Given the description of an element on the screen output the (x, y) to click on. 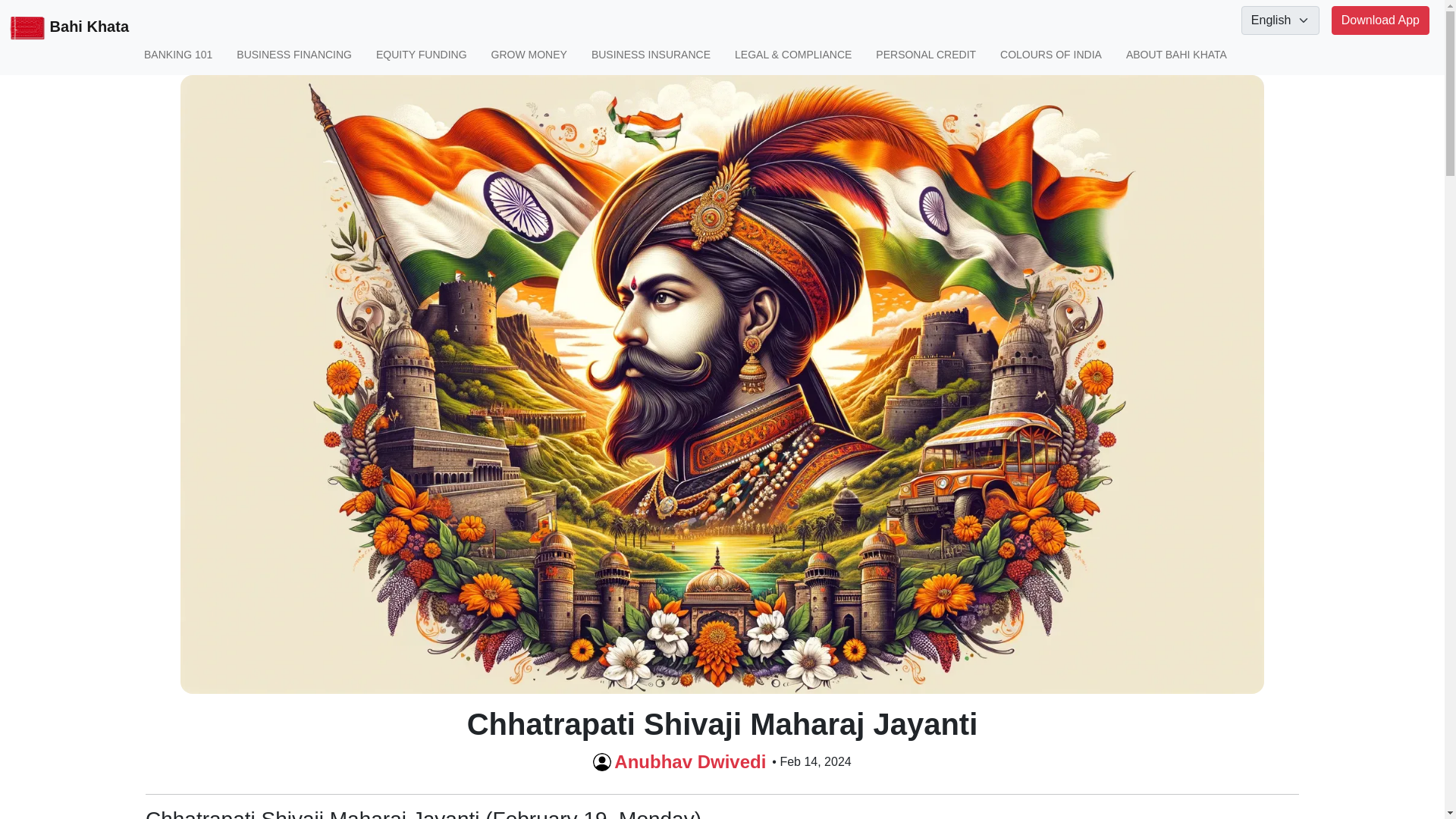
Anubhav Dwivedi (689, 761)
Grow Money (528, 54)
PERSONAL CREDIT (925, 54)
ABOUT BAHI KHATA (1176, 54)
BUSINESS FINANCING (294, 54)
Colours Of India (1051, 54)
Equity Funding (421, 54)
BANKING 101 (178, 54)
Business Insurance (650, 54)
EQUITY FUNDING (421, 54)
